Given the description of an element on the screen output the (x, y) to click on. 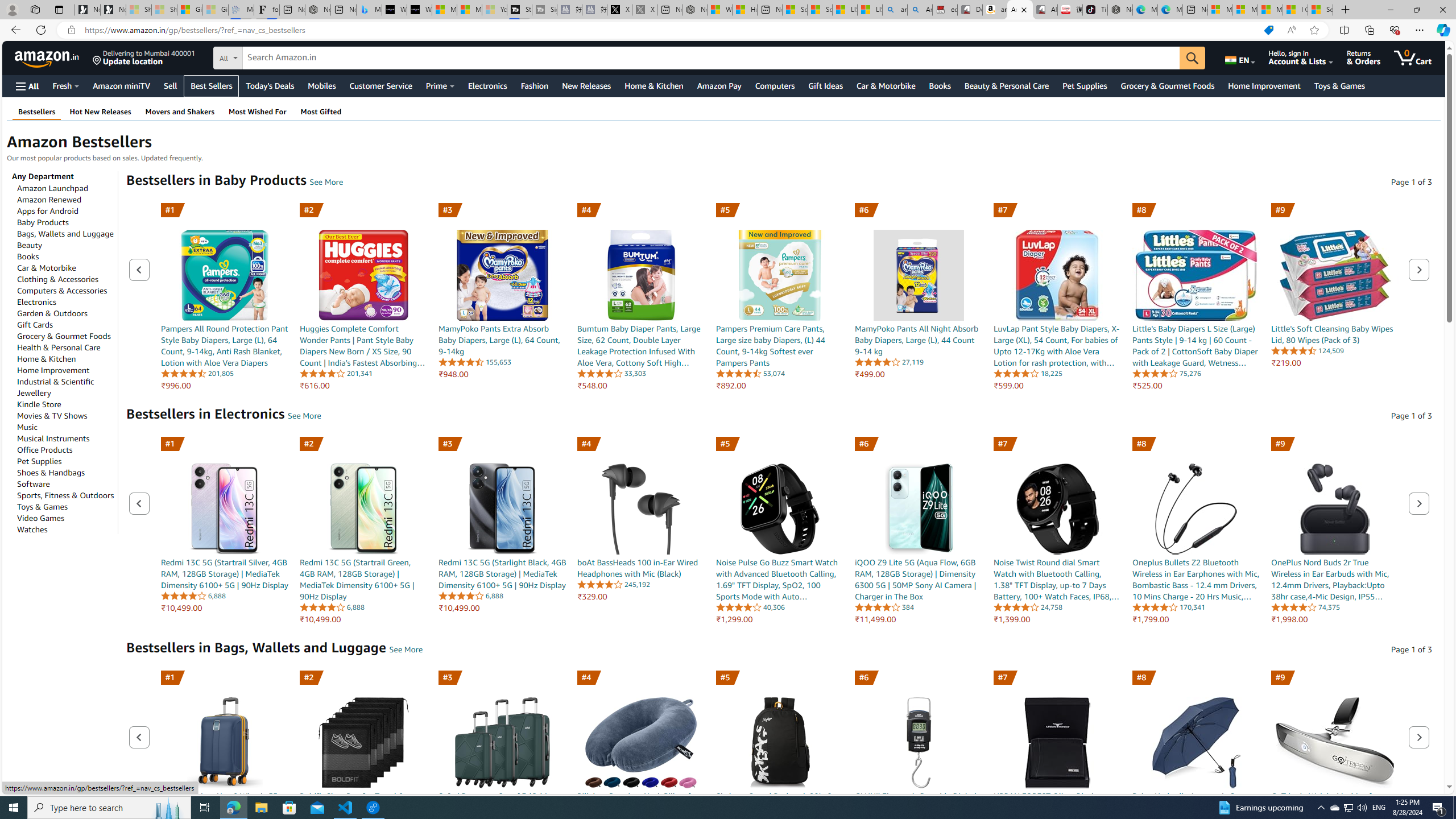
Grocery & Gourmet Foods (63, 335)
Microsoft account | Privacy (1244, 9)
Health & Personal Care (58, 347)
Previous page (139, 736)
X - Sleeping (644, 9)
Industrial & Scientific (55, 381)
